Given the description of an element on the screen output the (x, y) to click on. 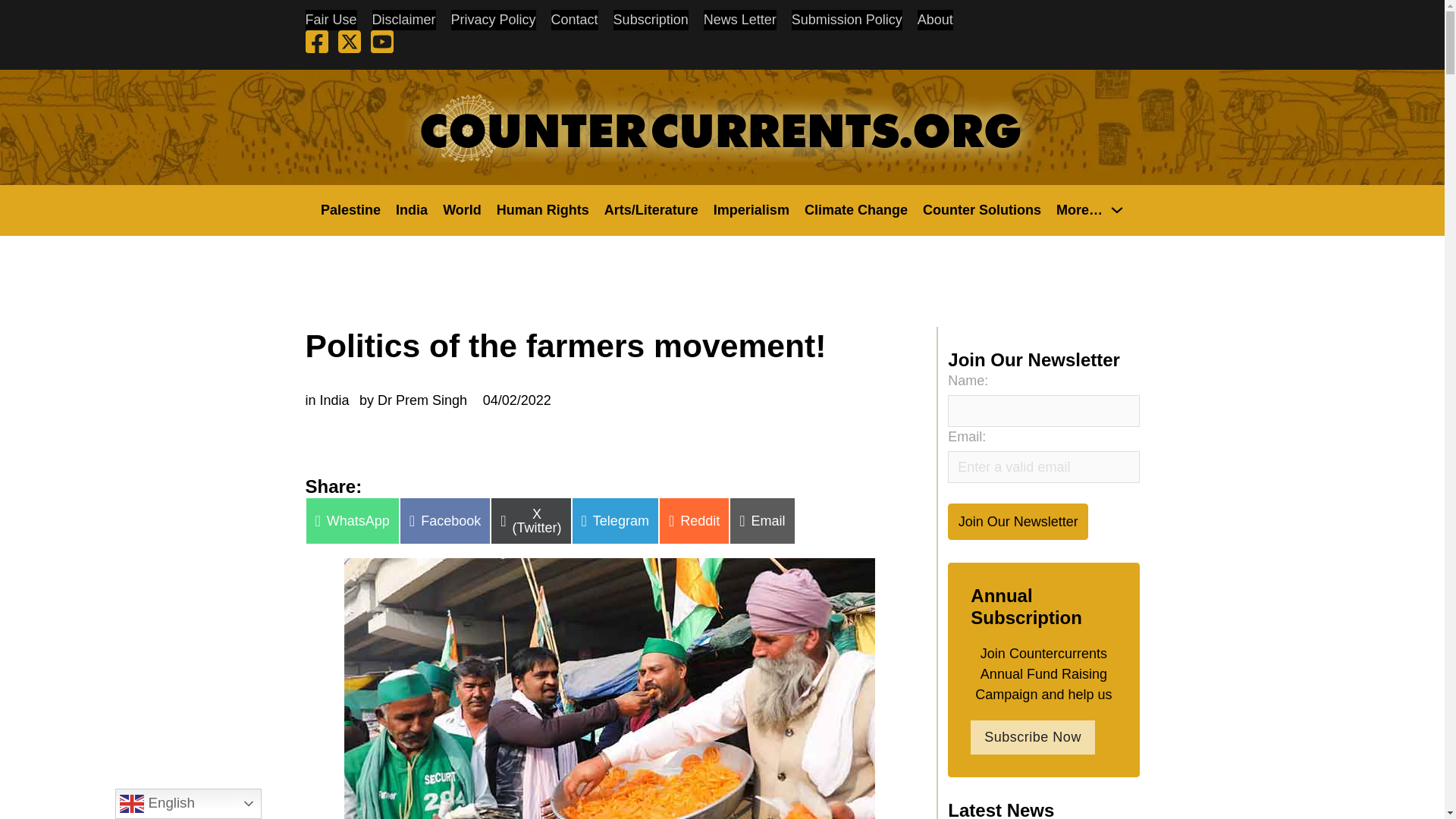
Contact (574, 19)
World (461, 209)
India (412, 209)
Fair Use (330, 19)
Privacy Policy (493, 19)
Submission Policy (847, 19)
About (935, 19)
Disclaimer (403, 19)
Climate Change (856, 209)
